Given the description of an element on the screen output the (x, y) to click on. 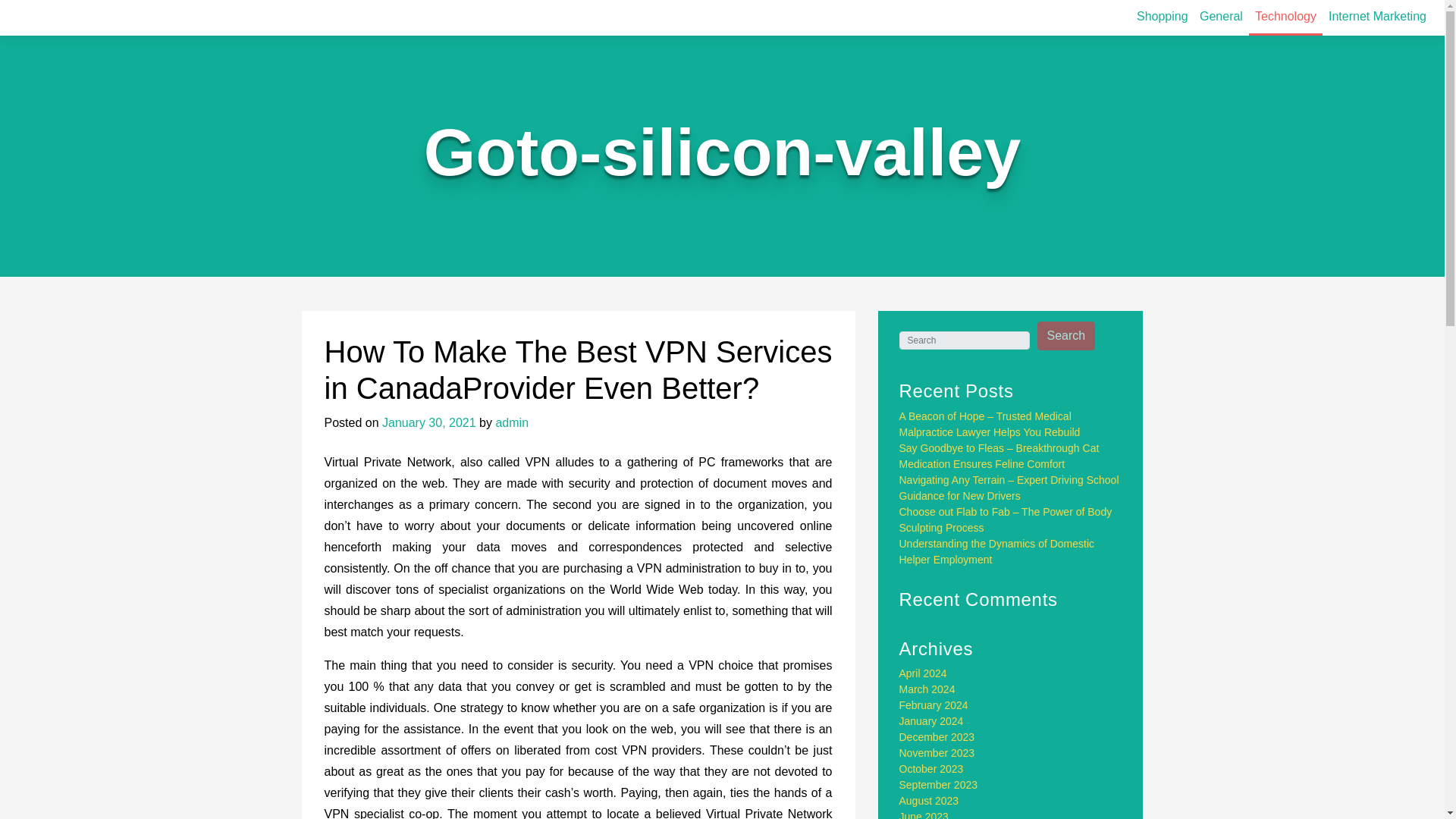
Understanding the Dynamics of Domestic Helper Employment (996, 551)
December 2023 (937, 736)
Search (1066, 335)
Internet Marketing (1377, 16)
January 30, 2021 (428, 422)
February 2024 (933, 705)
Shopping (1162, 16)
March 2024 (927, 689)
April 2024 (923, 673)
Technology (1285, 18)
